Given the description of an element on the screen output the (x, y) to click on. 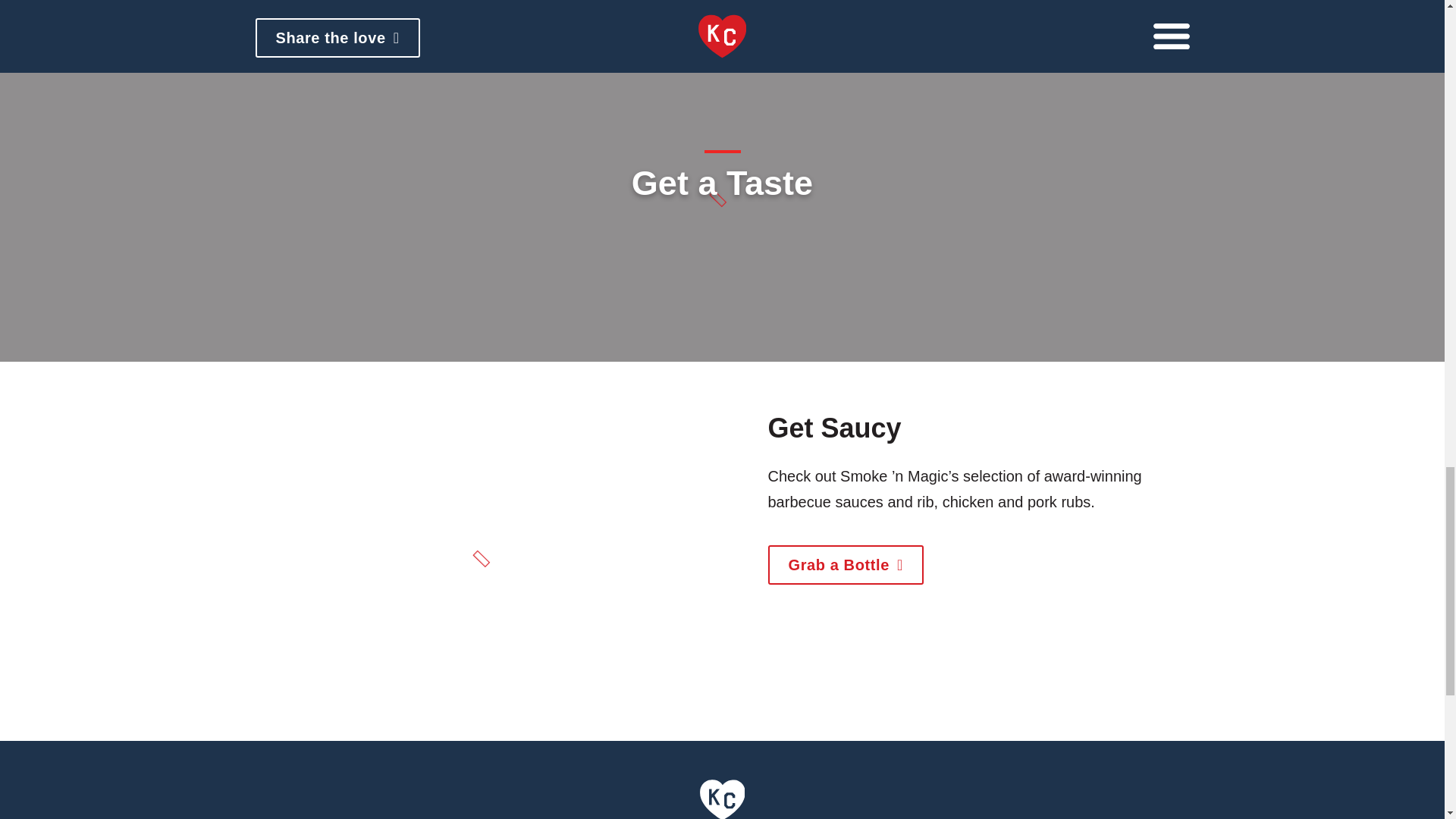
Grab a Bottle (845, 564)
KC.org (722, 798)
Home (722, 814)
KC.org (722, 814)
